Given the description of an element on the screen output the (x, y) to click on. 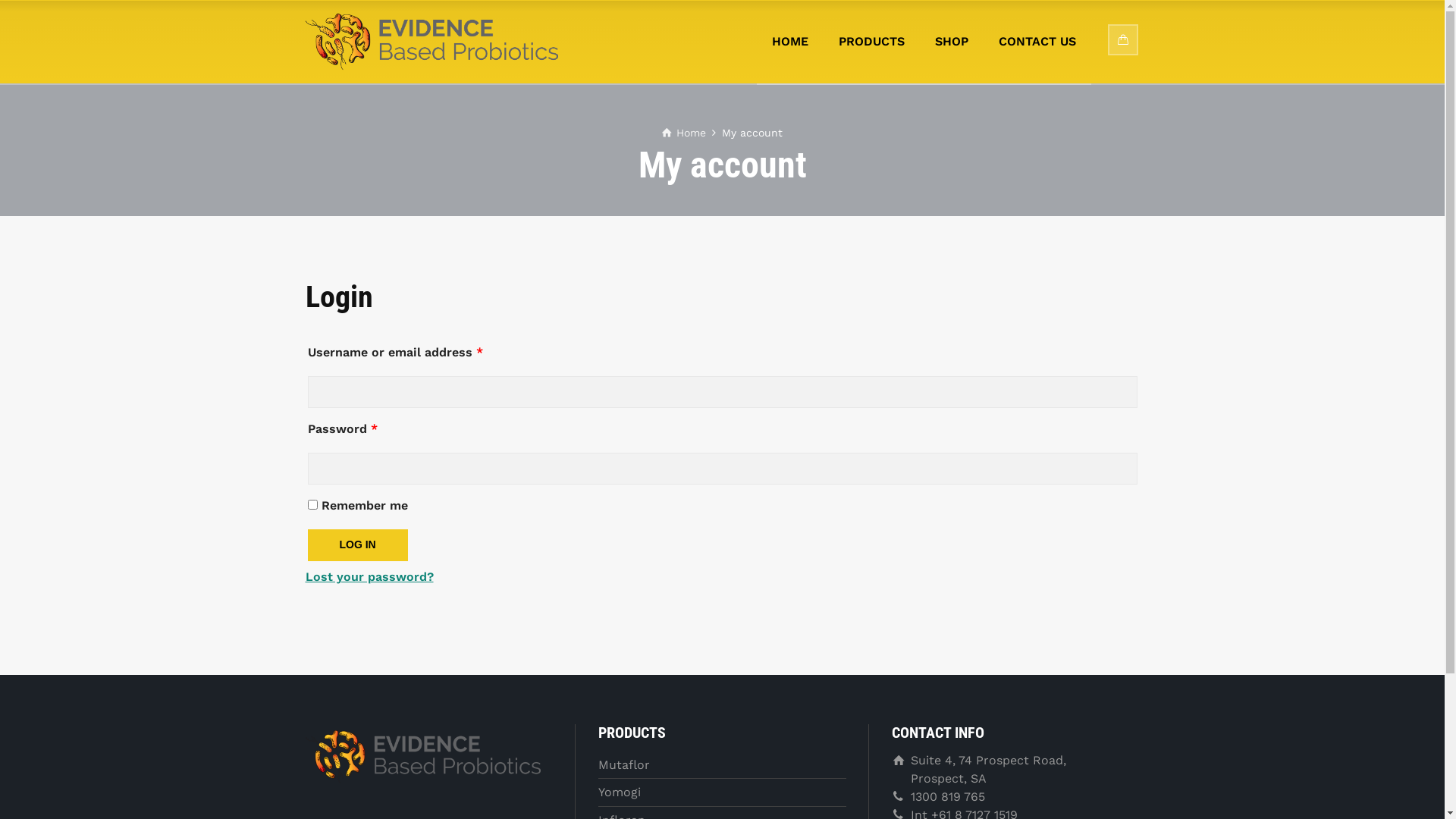
CONTACT US Element type: text (1037, 41)
SHOP Element type: text (951, 41)
Home Element type: text (684, 132)
Evidence Based Probiotics Element type: hover (430, 41)
HOME Element type: text (789, 41)
LOG IN Element type: text (357, 545)
Yomogi Element type: text (619, 791)
Cart Element type: hover (1122, 39)
Mutaflor Element type: text (623, 764)
Lost your password? Element type: text (368, 576)
PRODUCTS Element type: text (871, 41)
